Given the description of an element on the screen output the (x, y) to click on. 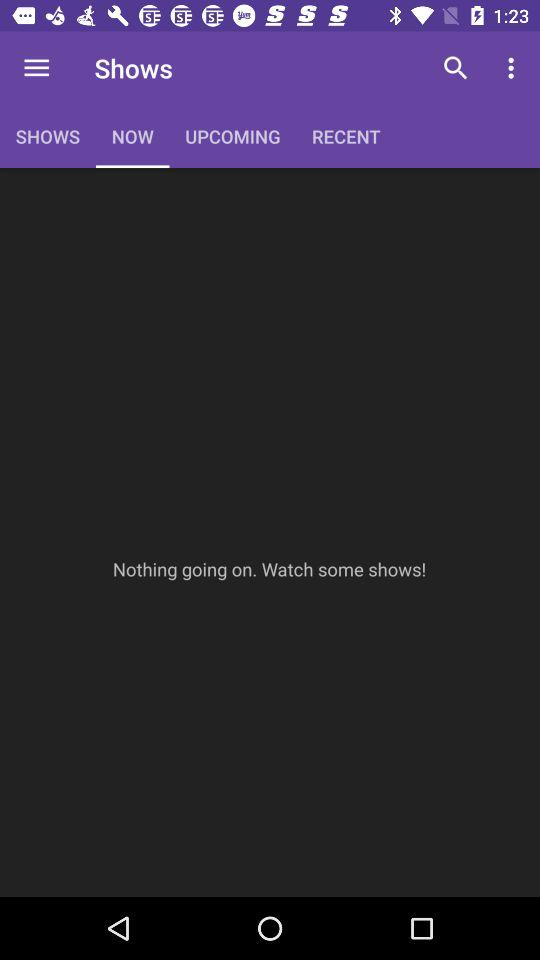
turn off item above shows icon (36, 68)
